Given the description of an element on the screen output the (x, y) to click on. 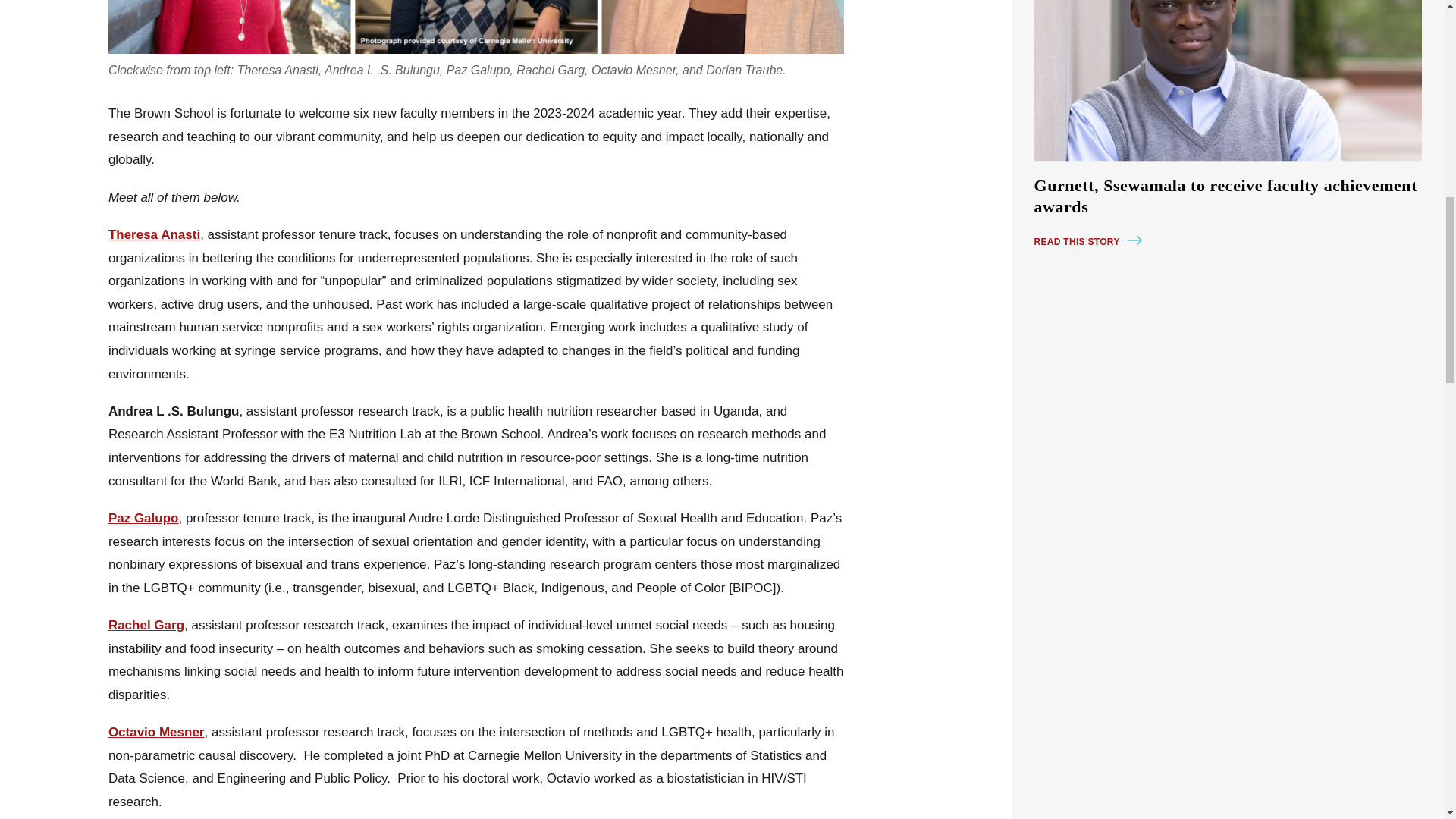
Octavio Mesner (156, 731)
Theresa Anasti (153, 234)
Rachel Garg (145, 625)
Paz Galupo (143, 518)
